Given the description of an element on the screen output the (x, y) to click on. 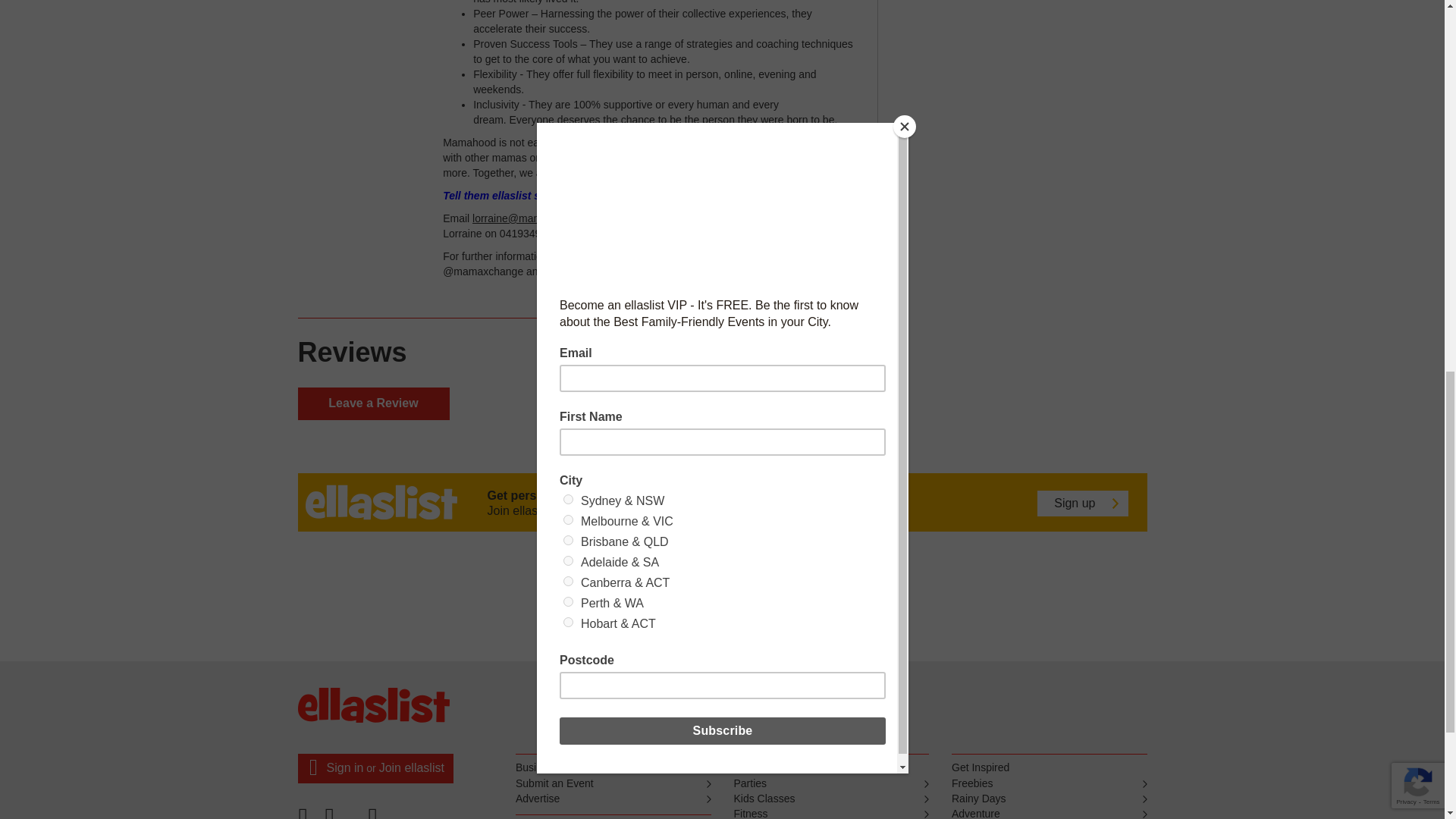
Facebook (306, 817)
Submit an Event (613, 783)
Kids Classes (831, 798)
Join ellaslist (411, 767)
Parties (831, 783)
visit the website (590, 256)
Leave a Review (372, 403)
Pinterest (341, 817)
Leave a Review (372, 403)
Sign in (344, 767)
Fitness (831, 812)
Instagram (375, 817)
Advertise (613, 798)
